Given the description of an element on the screen output the (x, y) to click on. 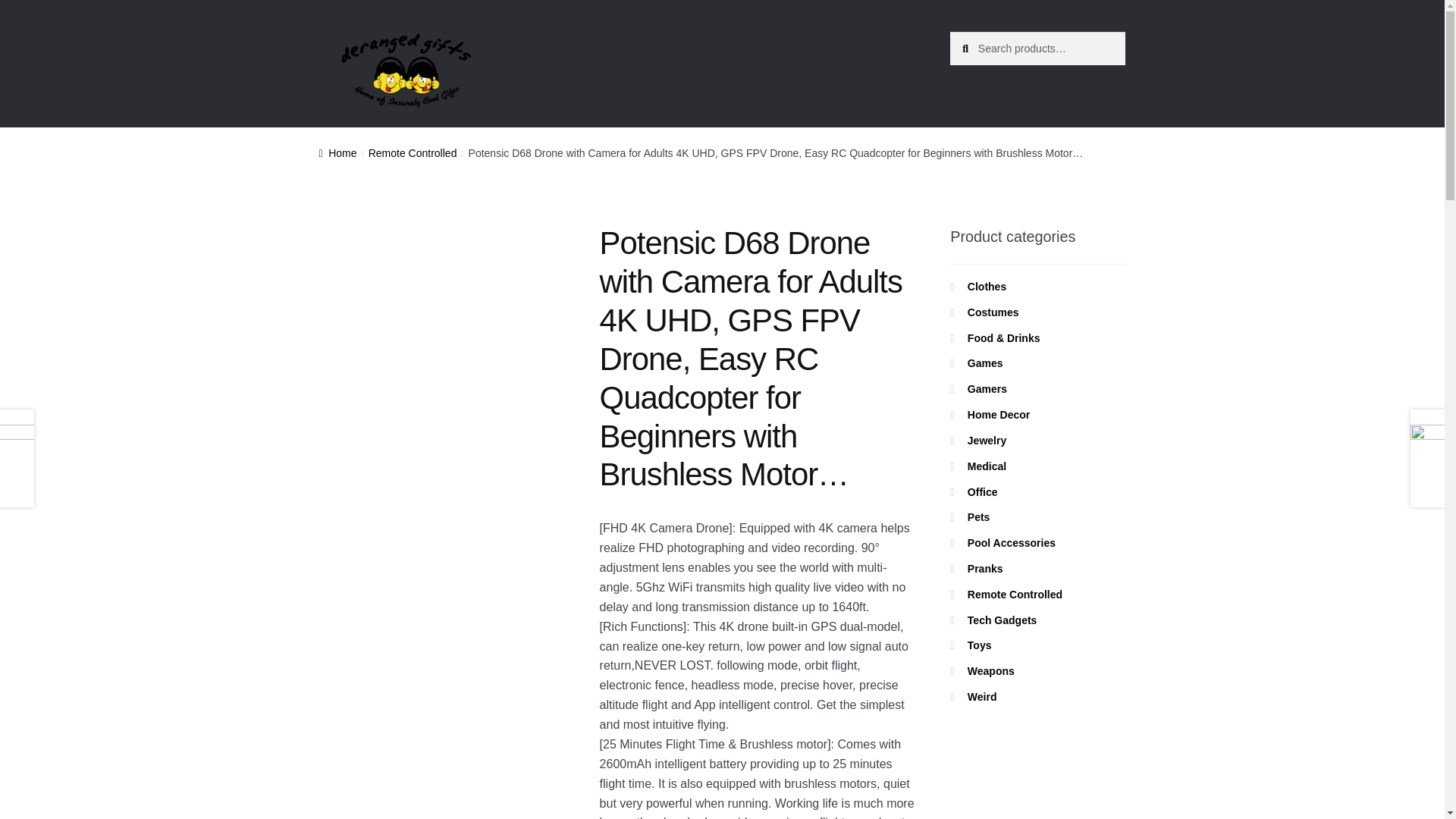
Home (337, 152)
Clothes (987, 286)
Costumes (993, 312)
Gamers (987, 388)
Jewelry (987, 440)
Remote Controlled (412, 152)
Games (985, 363)
Home Decor (998, 414)
Medical (987, 466)
